Given the description of an element on the screen output the (x, y) to click on. 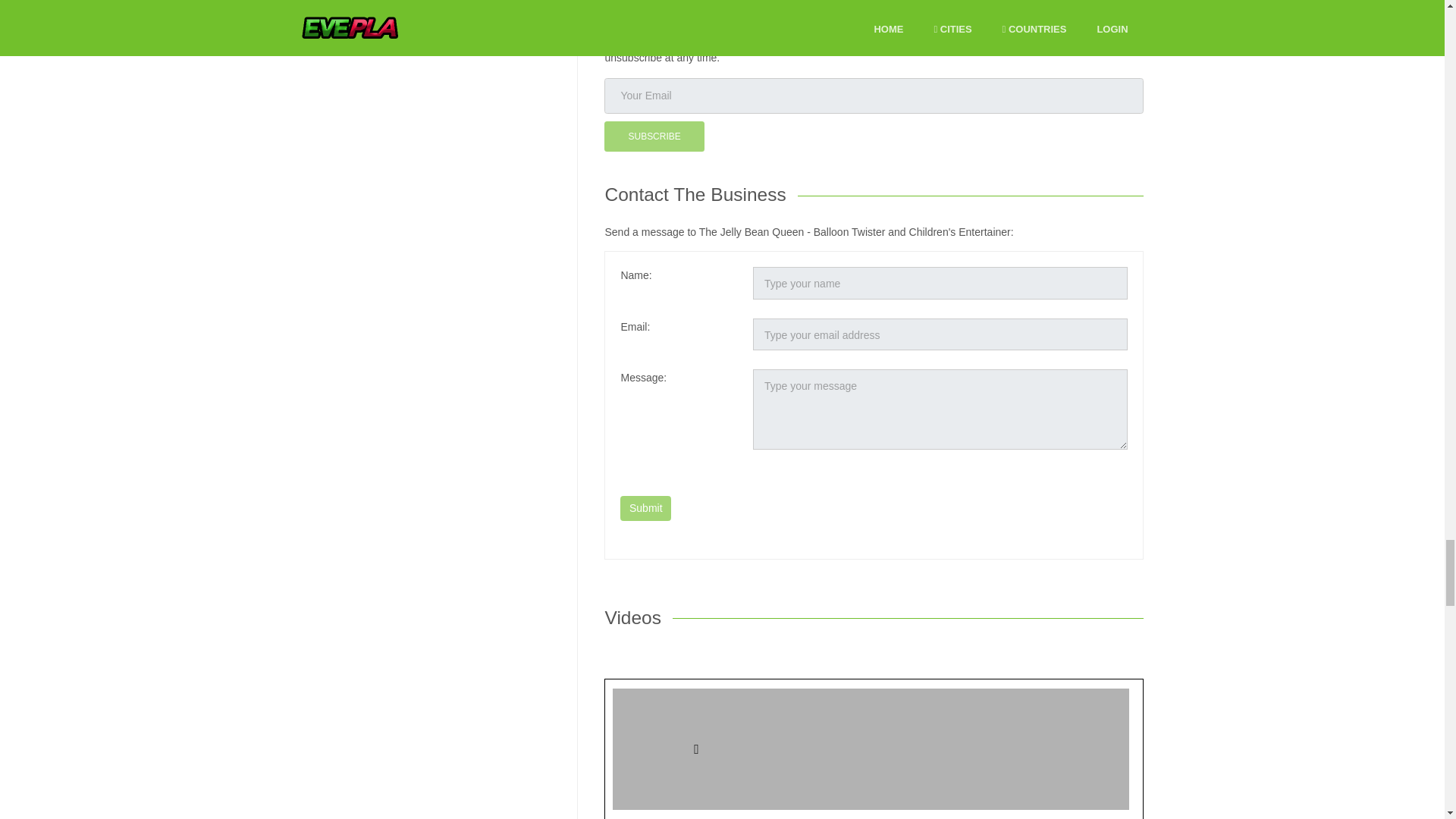
Submit (645, 508)
Submit (645, 508)
SUBSCRIBE (653, 136)
